Given the description of an element on the screen output the (x, y) to click on. 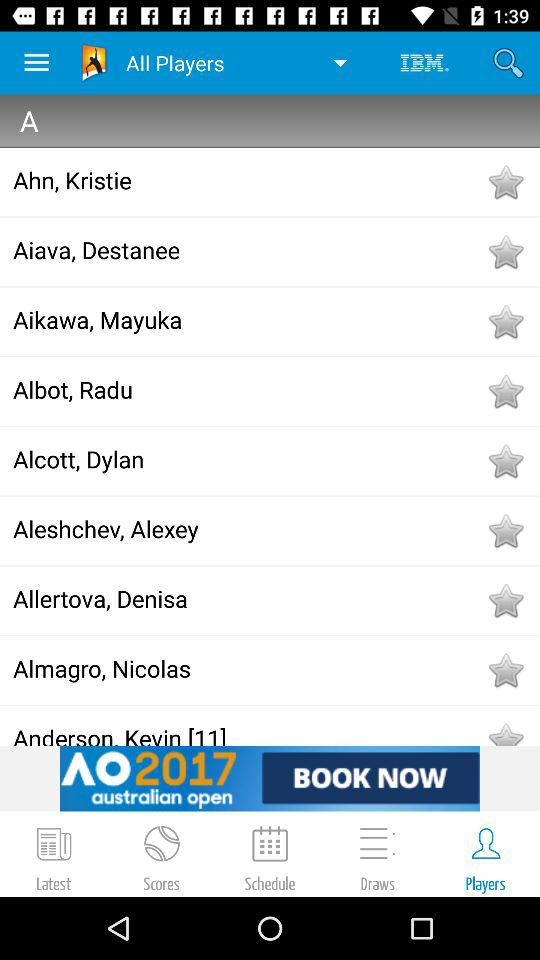
flip to alcott, dylan (248, 459)
